Given the description of an element on the screen output the (x, y) to click on. 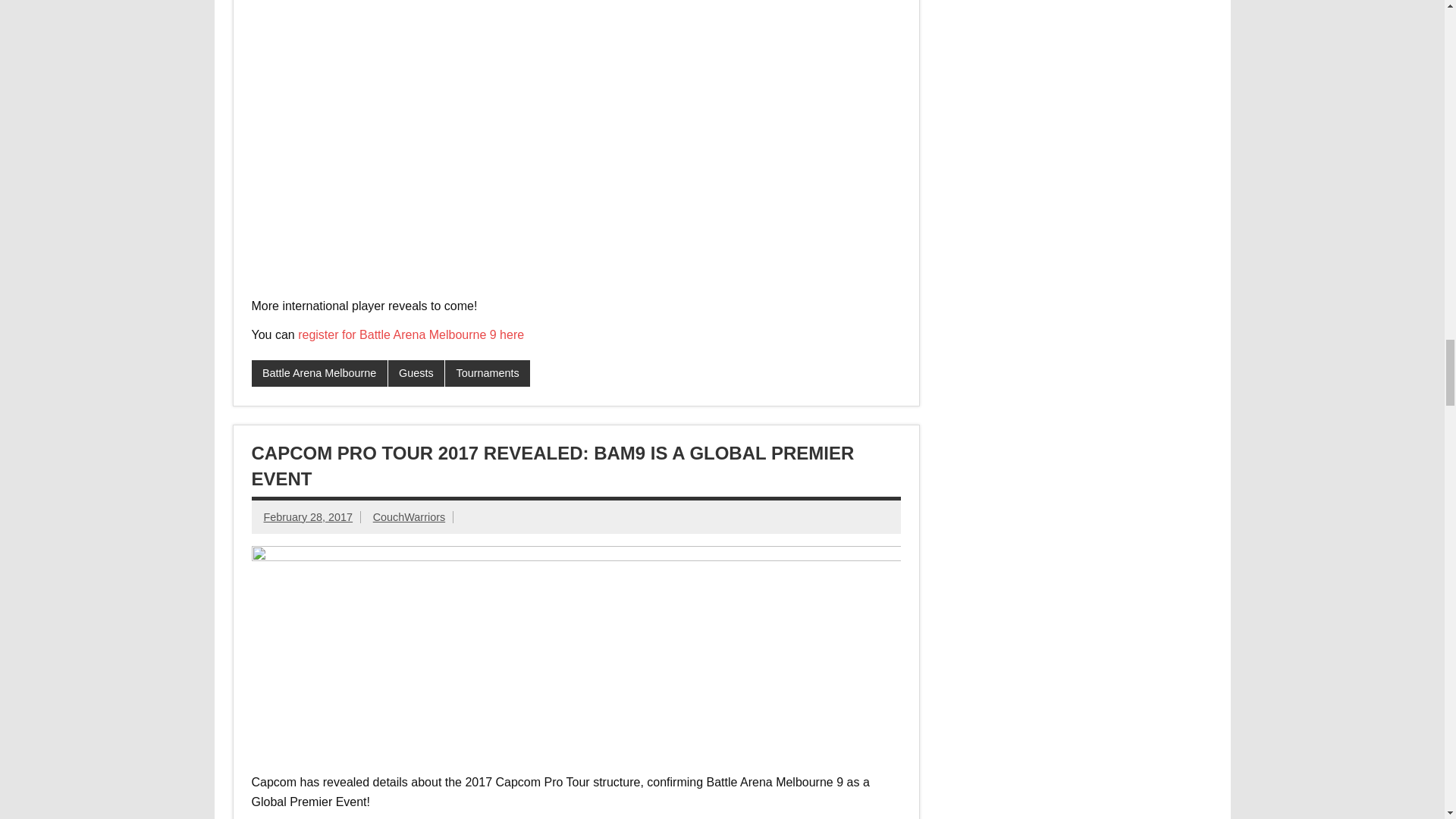
9:40 pm (308, 517)
View all posts by CouchWarriors (408, 517)
